Given the description of an element on the screen output the (x, y) to click on. 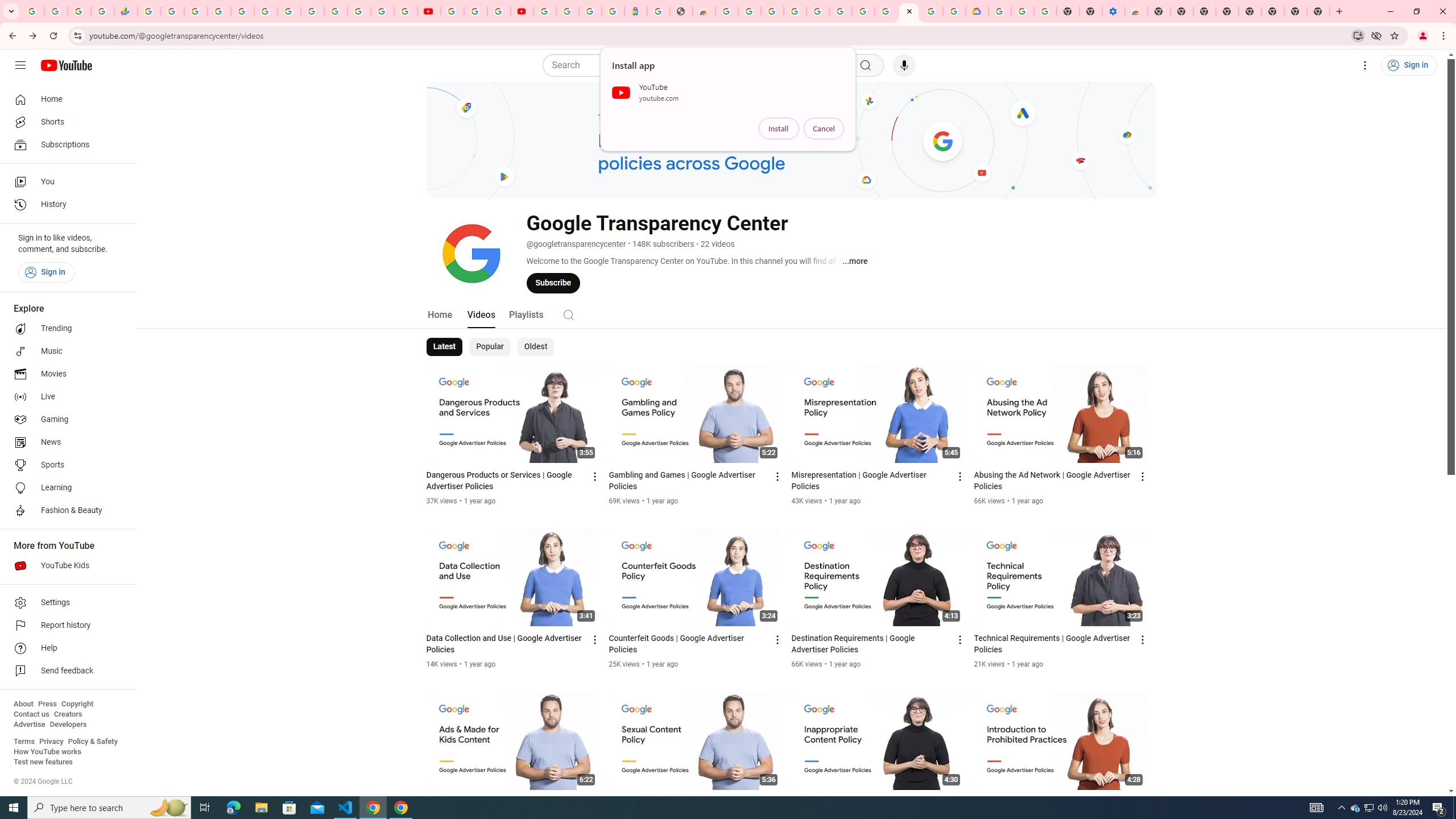
Sign in - Google Accounts (381, 11)
